Given the description of an element on the screen output the (x, y) to click on. 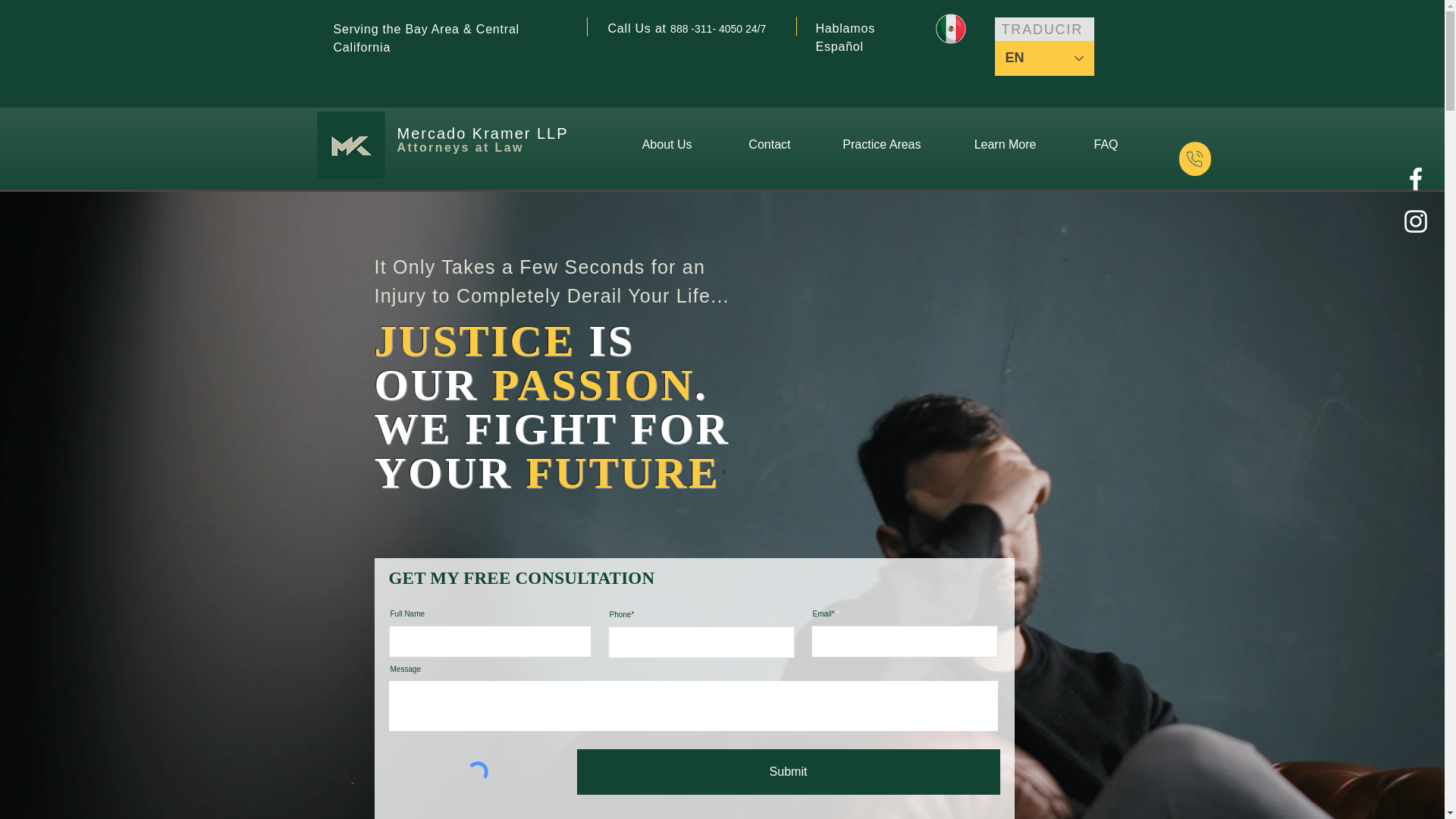
FAQ (1088, 144)
Practice Areas (867, 144)
Mercado Kramer LLP (483, 133)
Submit (787, 771)
TRADUCIR (1044, 29)
Contact (752, 144)
Learn More (990, 144)
About Us (649, 144)
